Given the description of an element on the screen output the (x, y) to click on. 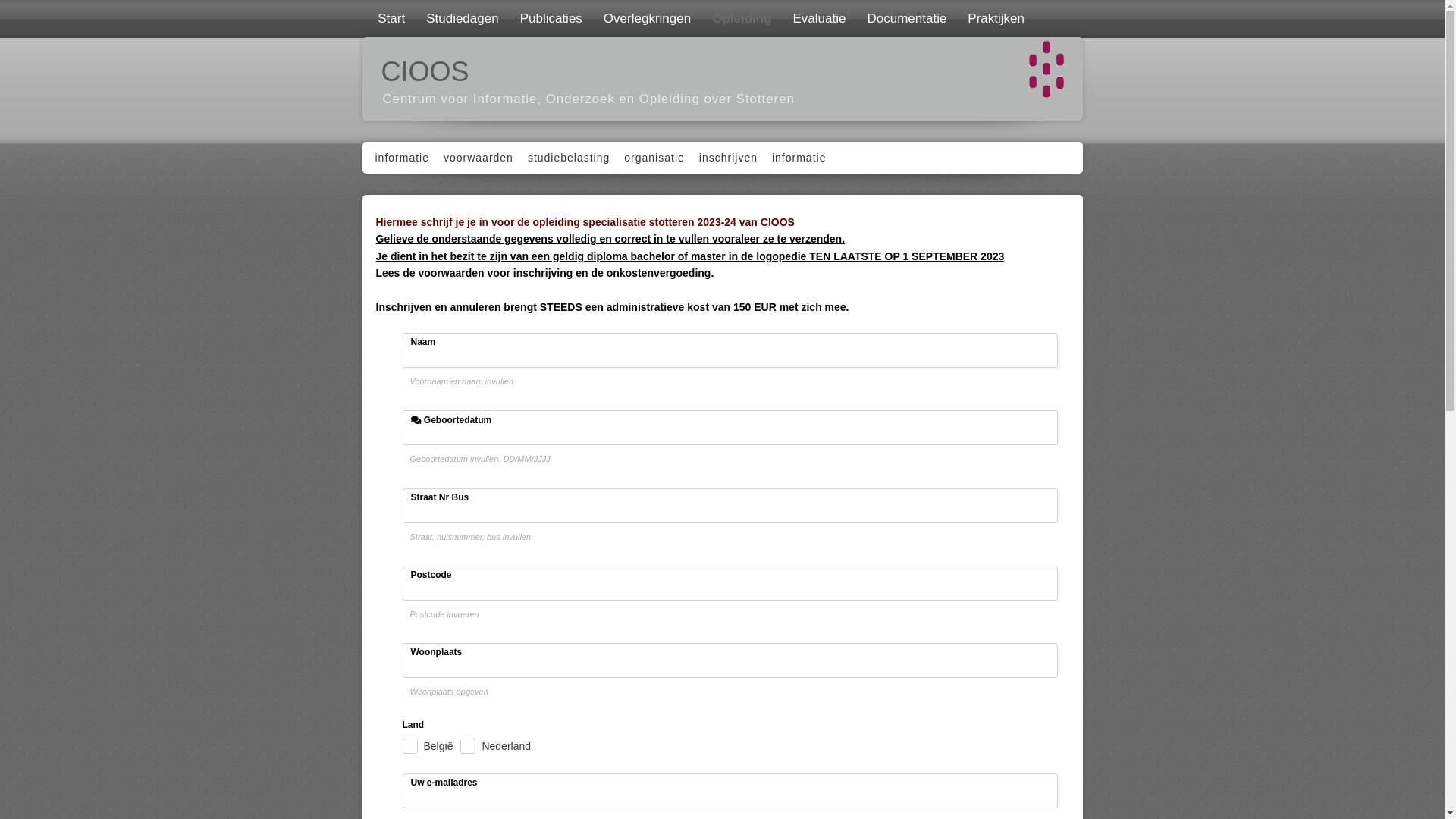
Documentatie Element type: text (904, 18)
Studiedagen Element type: text (460, 18)
Overlegkringen Element type: text (645, 18)
informatie Element type: text (796, 157)
informatie Element type: text (399, 157)
Opleiding Element type: text (739, 18)
voorwaarden Element type: text (476, 157)
inschrijven Element type: text (726, 157)
organisatie Element type: text (652, 157)
Evaluatie Element type: text (818, 18)
Start Element type: text (389, 18)
studiebelasting Element type: text (566, 157)
Publicaties Element type: text (549, 18)
Praktijken Element type: text (994, 18)
